Given the description of an element on the screen output the (x, y) to click on. 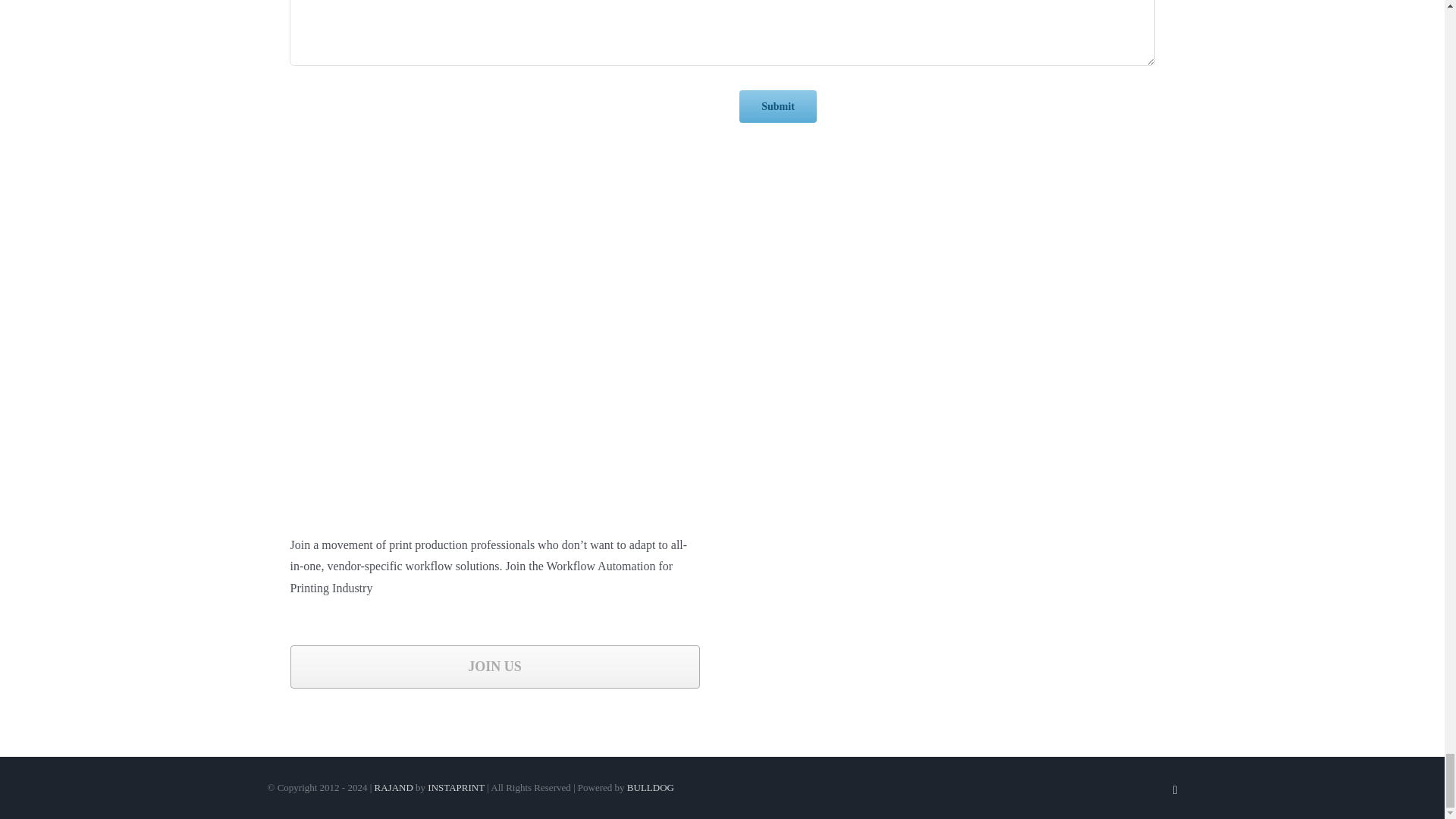
RAJAND (393, 787)
BULLDOG (650, 787)
JOIN US (493, 666)
Submit (777, 106)
INSTAPRINT (456, 787)
